Given the description of an element on the screen output the (x, y) to click on. 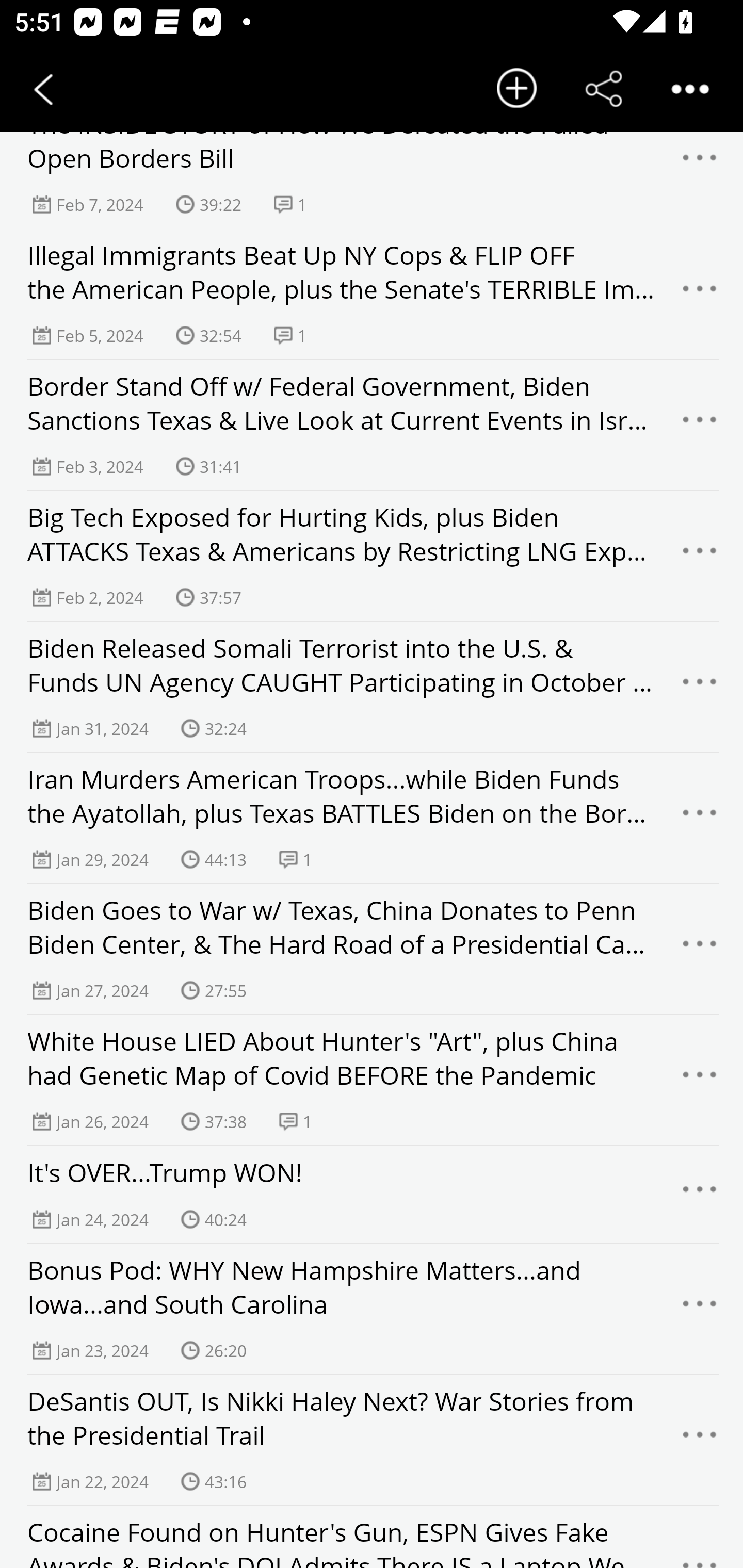
Back (43, 88)
Menu (699, 162)
Menu (699, 293)
Menu (699, 424)
Menu (699, 555)
Menu (699, 687)
Menu (699, 817)
Menu (699, 949)
Menu (699, 1079)
It's OVER...Trump WON! Jan 24, 2024 40:24 Menu (371, 1194)
Menu (699, 1193)
Menu (699, 1308)
Menu (699, 1440)
